Given the description of an element on the screen output the (x, y) to click on. 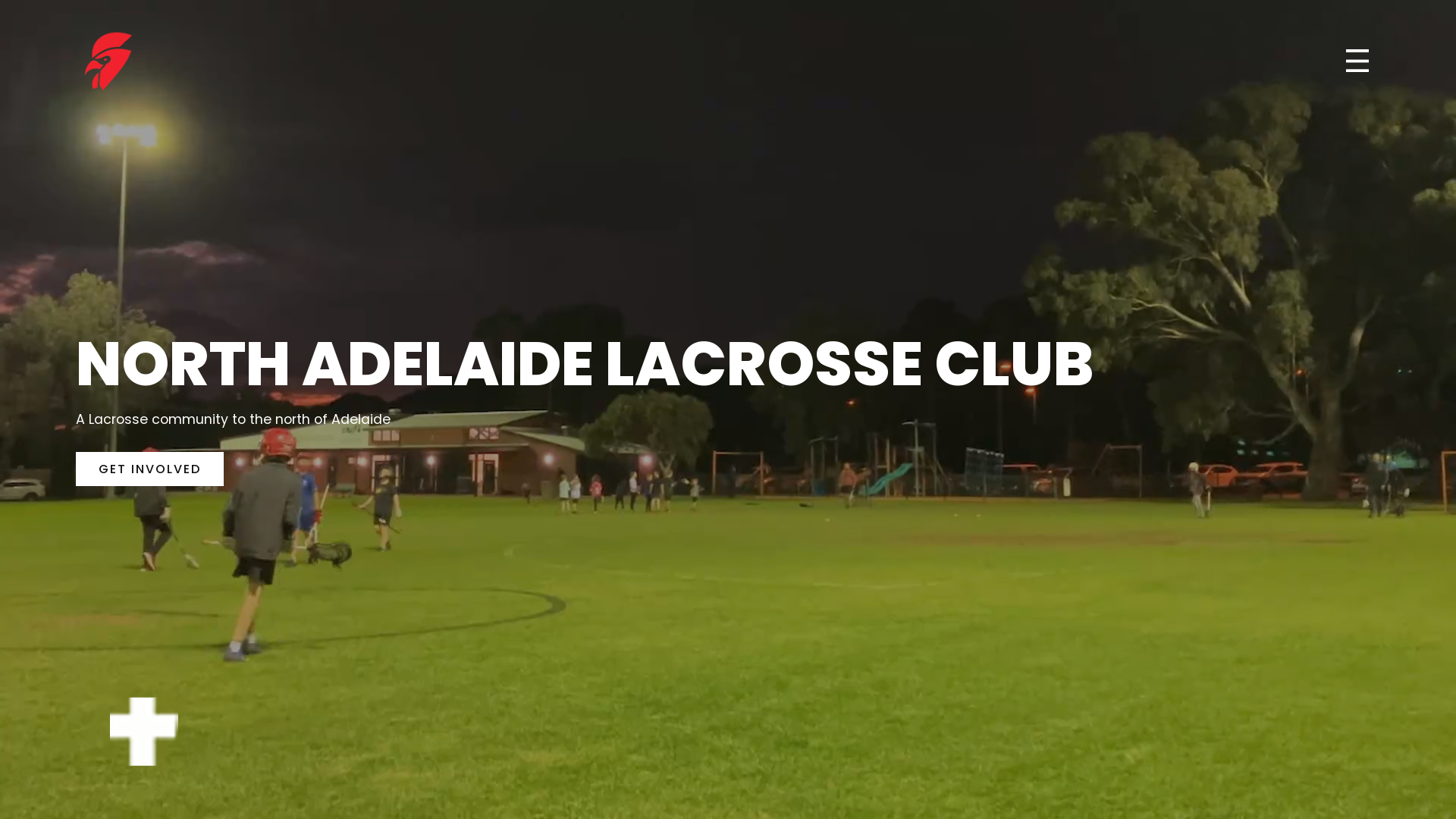
Results and Fixtures Element type: text (1341, 395)
GET INVOLVED Element type: text (149, 468)
Contact Element type: text (1289, 422)
